Given the description of an element on the screen output the (x, y) to click on. 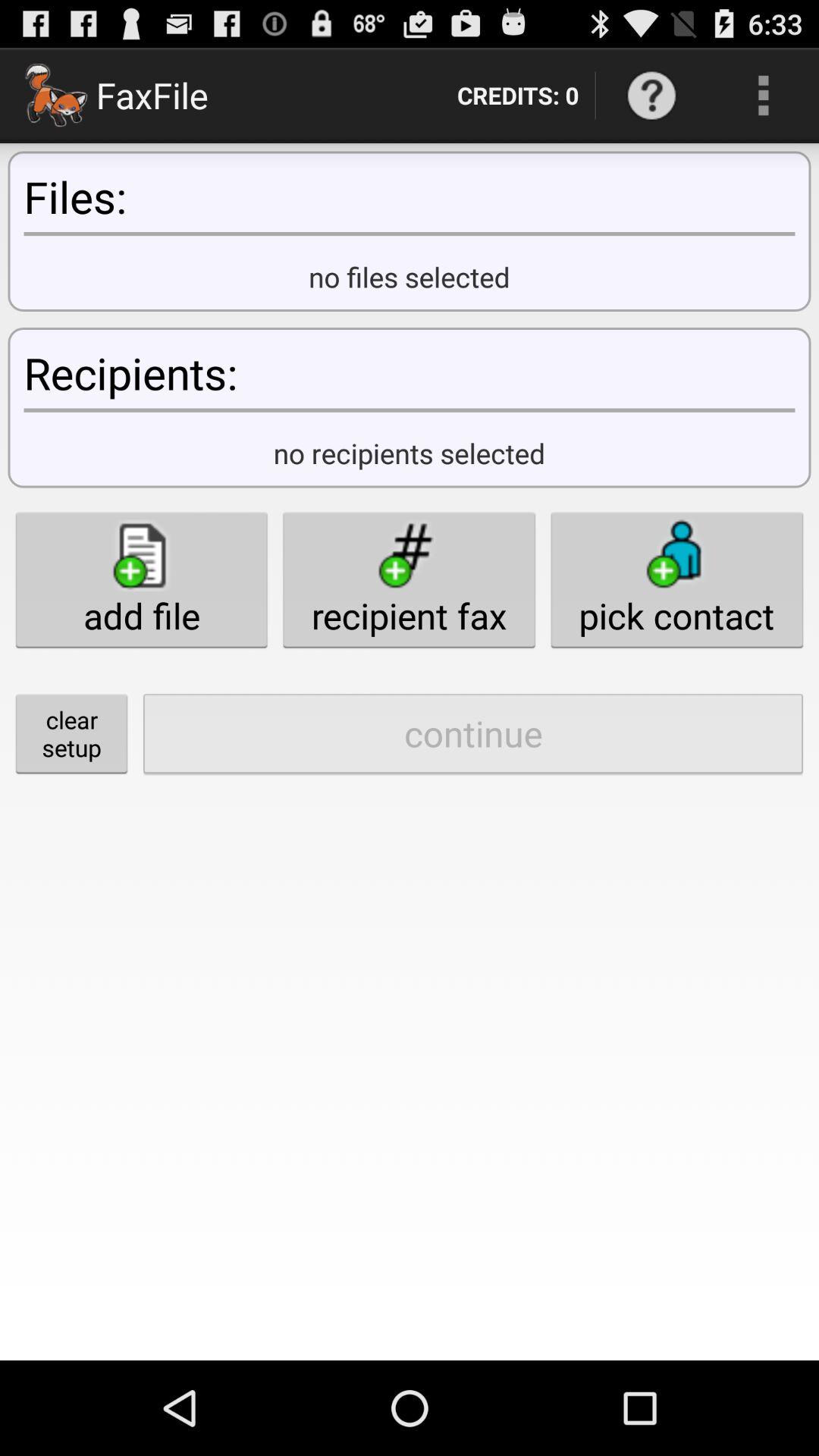
select button next to the add file icon (409, 579)
